Given the description of an element on the screen output the (x, y) to click on. 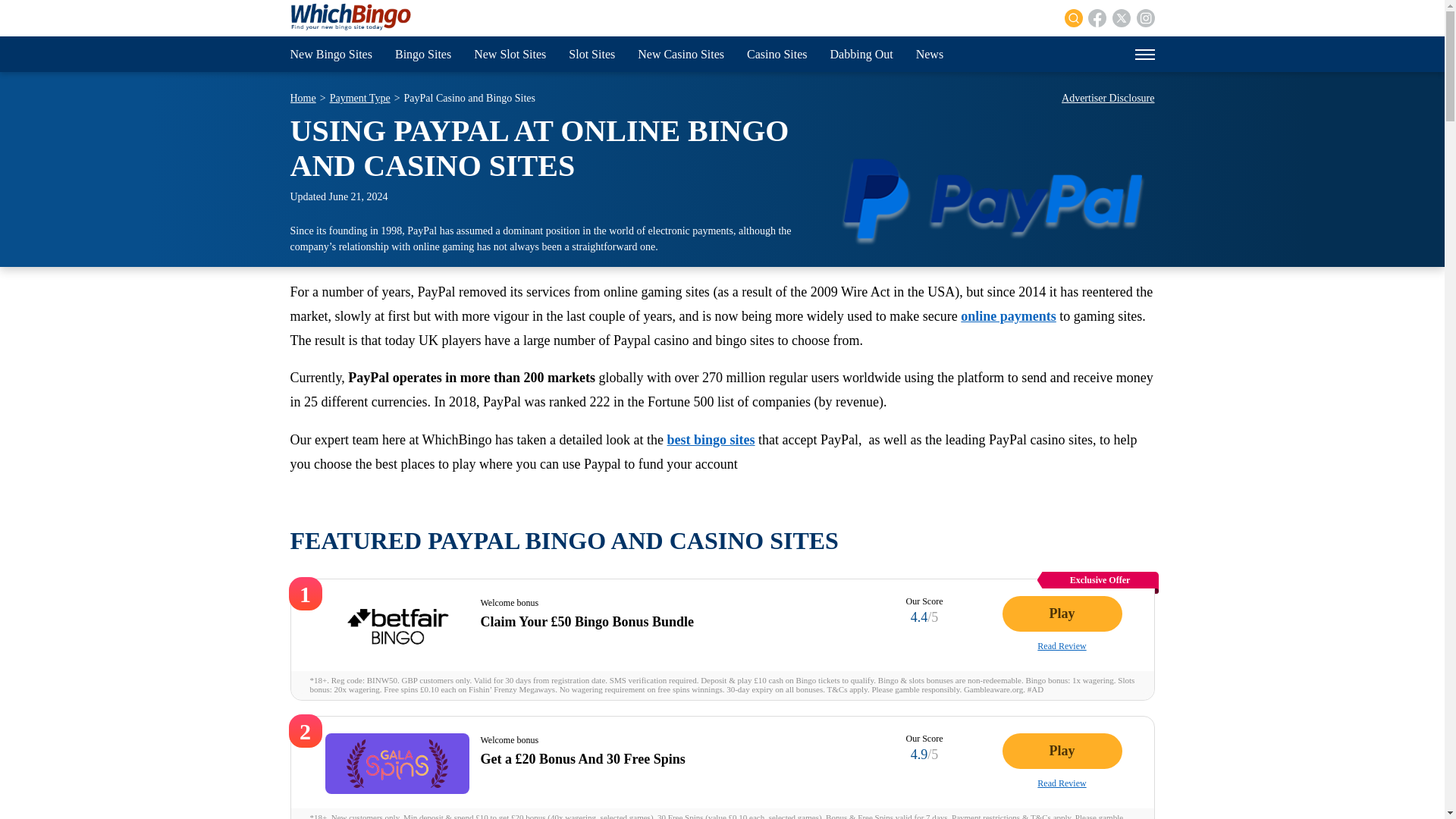
Slot Sites (591, 54)
New Slot Sites (510, 54)
Bingo Sites (423, 54)
New Bingo Sites (331, 54)
